Given the description of an element on the screen output the (x, y) to click on. 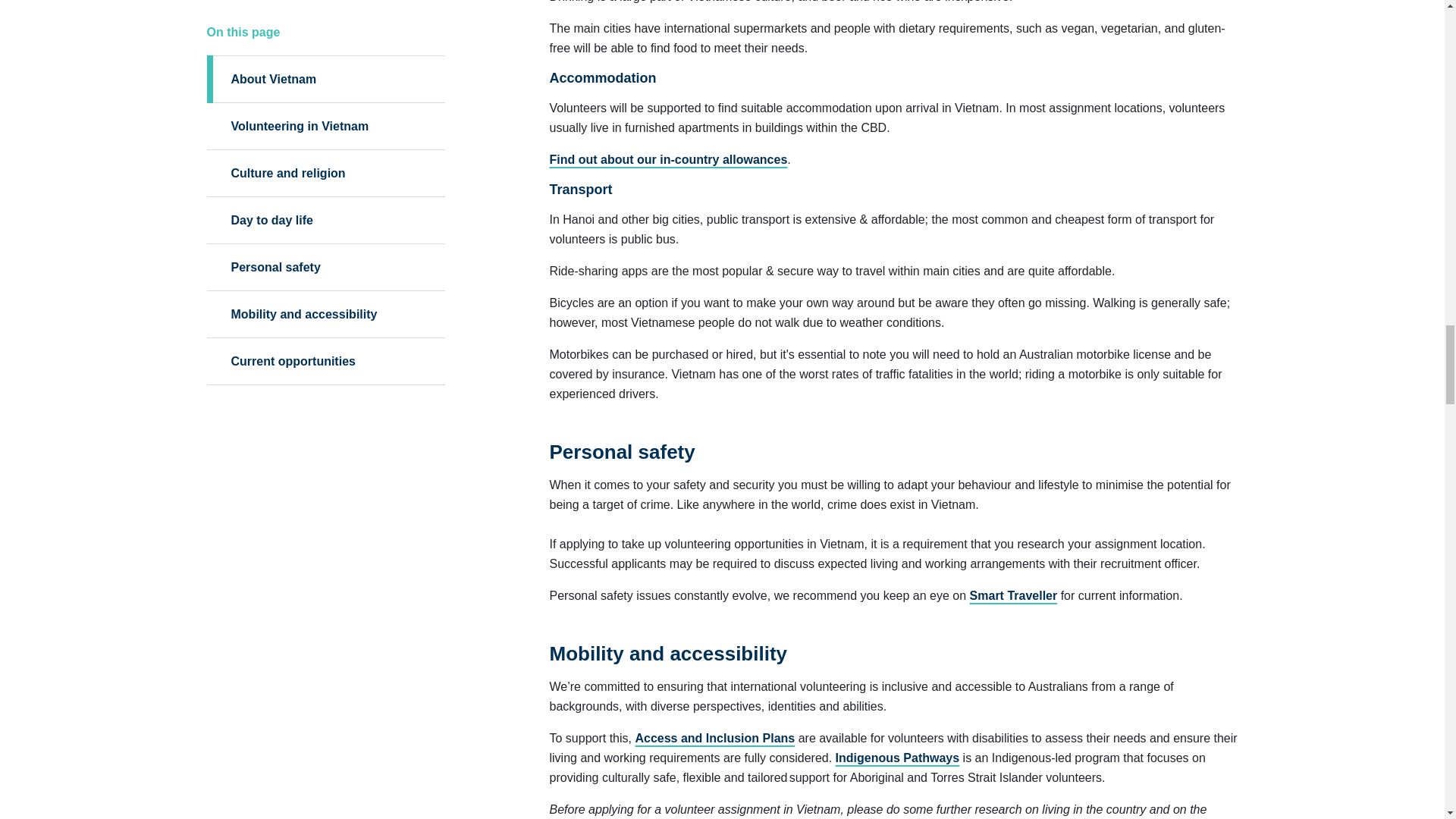
Find out about our in-country allowances (667, 159)
Access and Inclusion Plans (714, 738)
Indigenous Pathways (897, 757)
Smart Traveller (1013, 594)
